Given the description of an element on the screen output the (x, y) to click on. 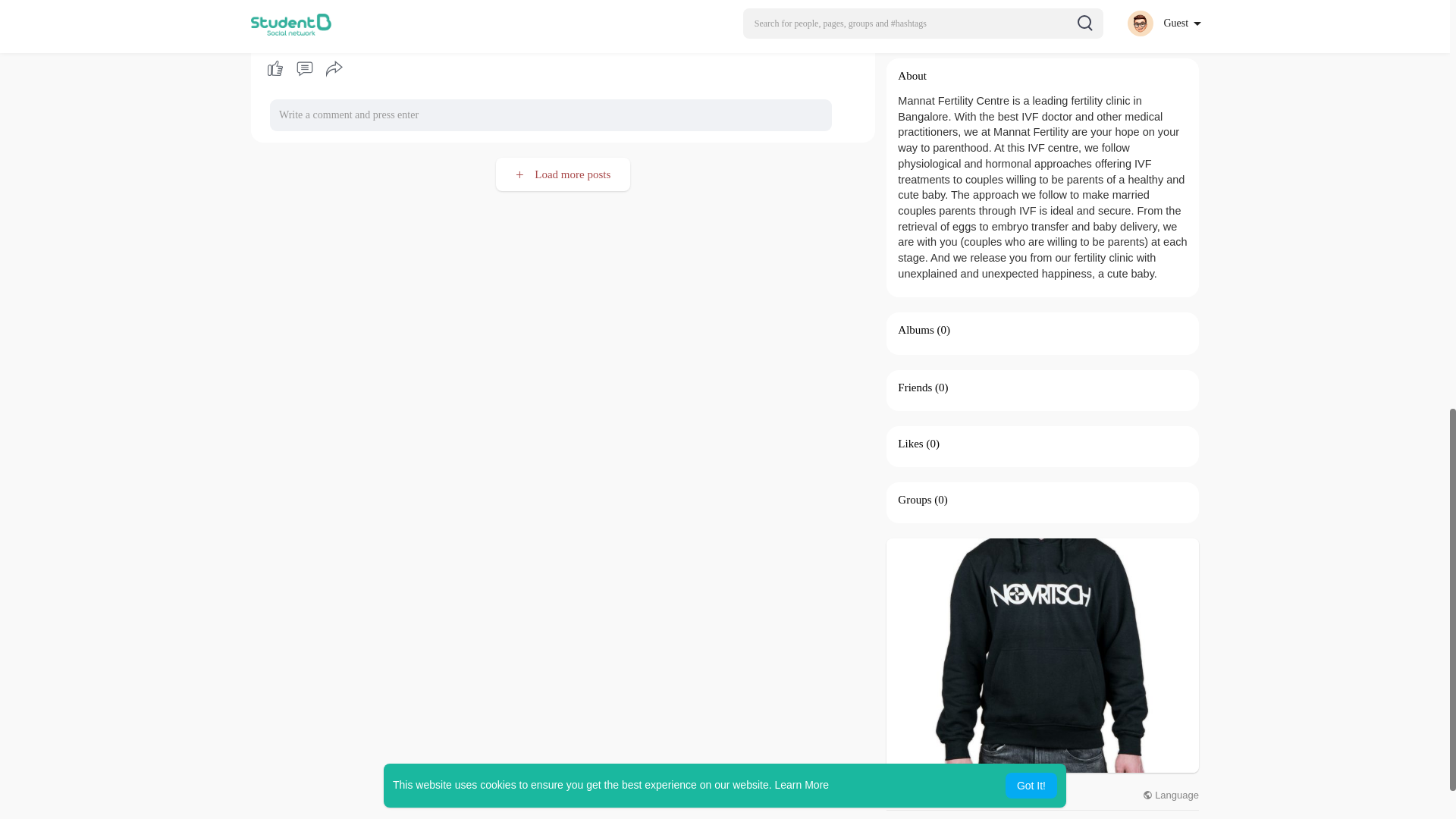
Share (334, 68)
Language (1170, 795)
Likes (910, 443)
Groups (914, 499)
Albums (916, 329)
Comments (304, 68)
Friends (914, 387)
